Given the description of an element on the screen output the (x, y) to click on. 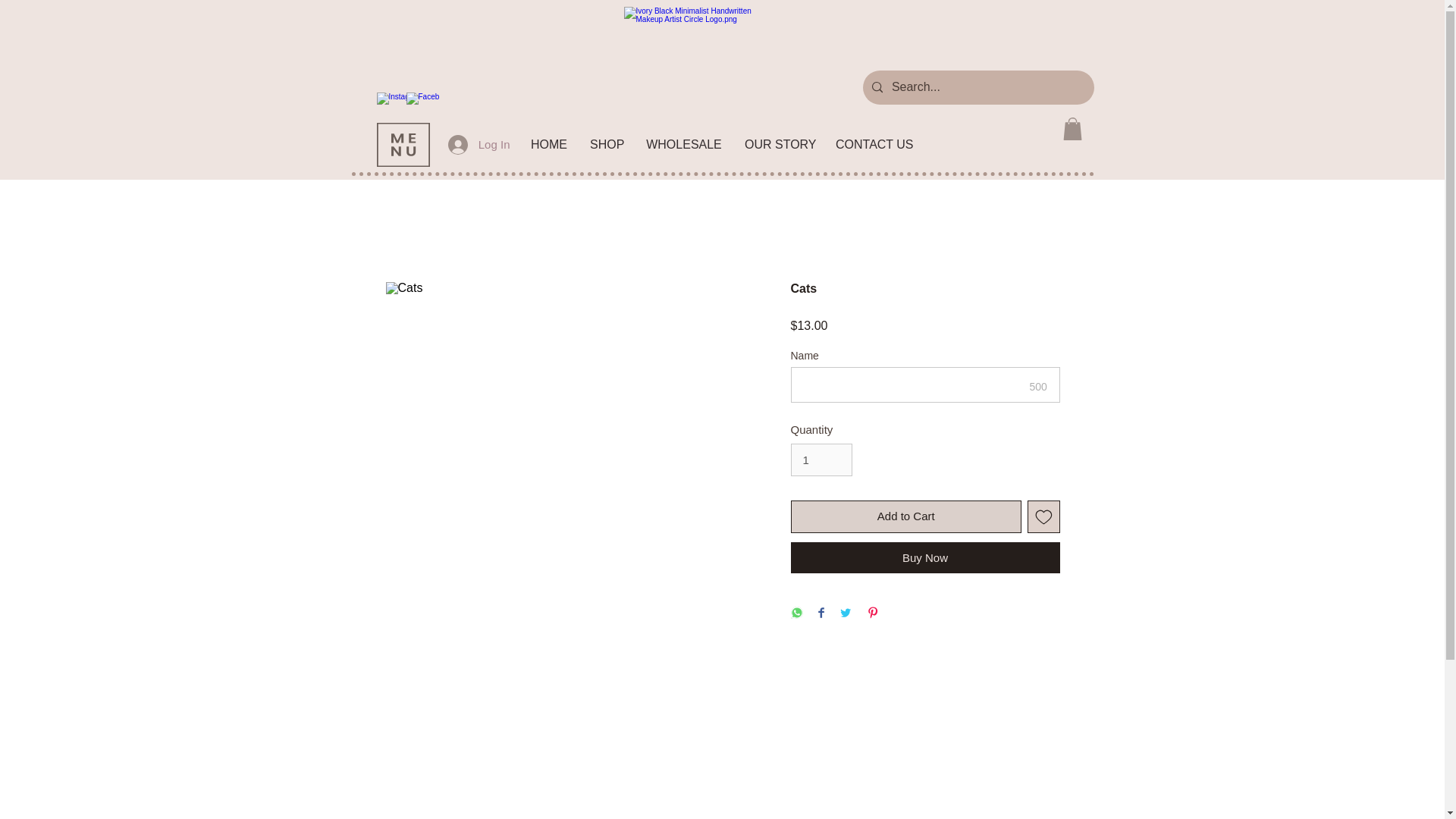
WHOLESALE (683, 144)
CONTACT US (874, 144)
1 (820, 459)
HOME (548, 144)
Buy Now (924, 557)
Add to Cart (906, 516)
SHOP (606, 144)
OUR STORY (778, 144)
Log In (479, 144)
